Given the description of an element on the screen output the (x, y) to click on. 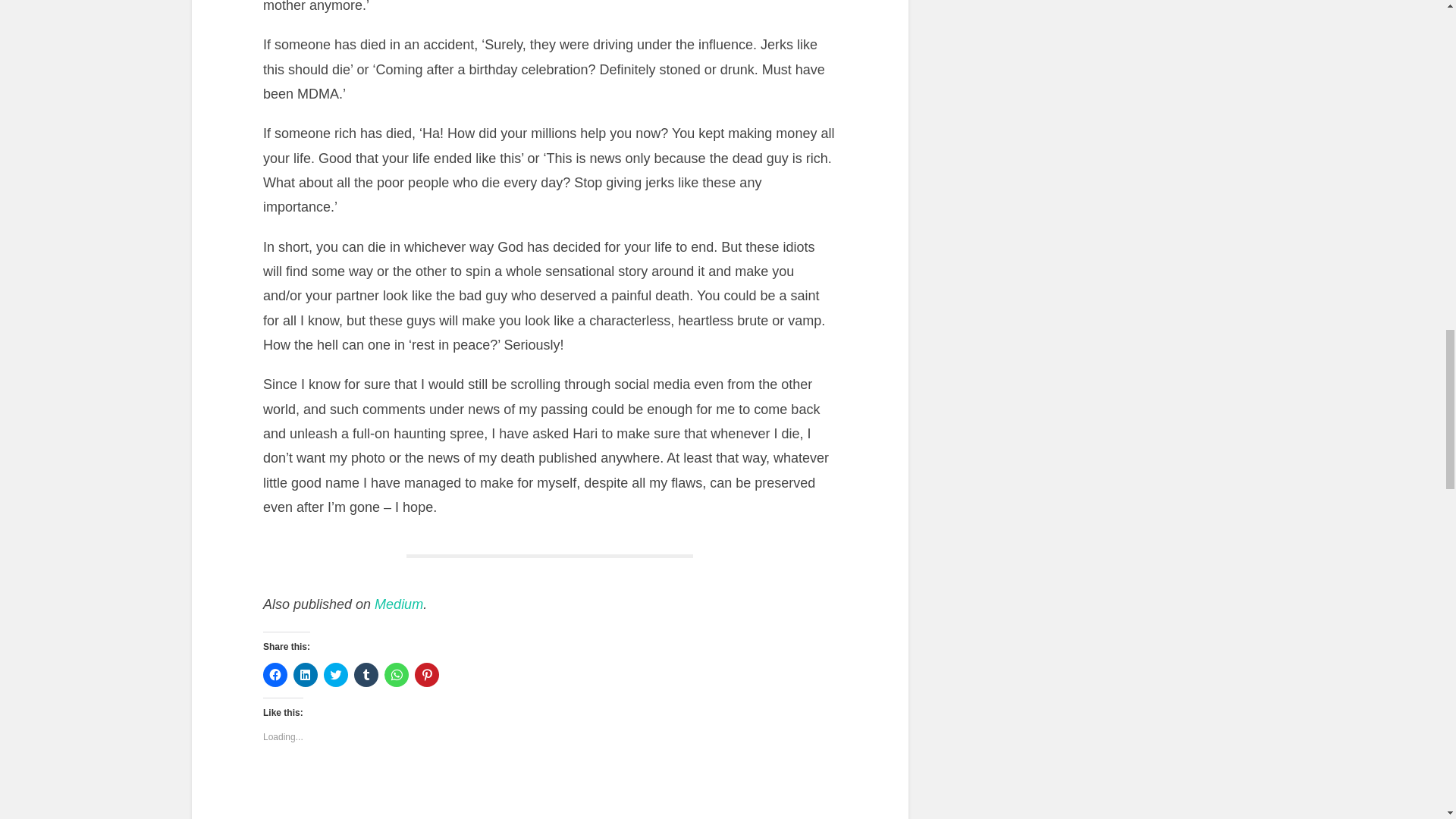
Click to share on Twitter (335, 674)
Click to share on Pinterest (426, 674)
Click to share on Tumblr (365, 674)
Click to share on Facebook (274, 674)
Click to share on LinkedIn (305, 674)
Medium (398, 604)
Click to share on WhatsApp (396, 674)
